Given the description of an element on the screen output the (x, y) to click on. 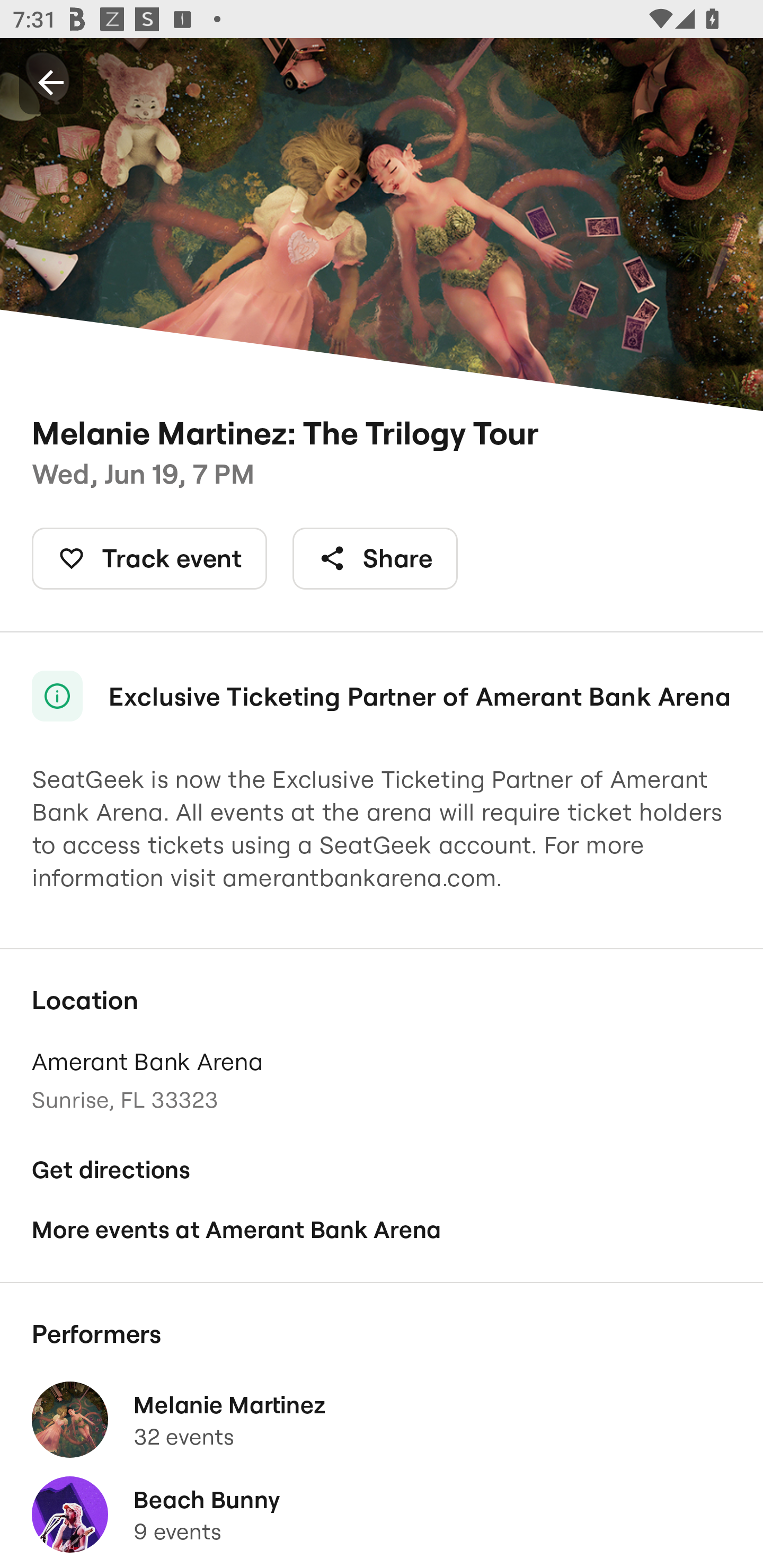
Back (50, 81)
Track event (149, 557)
Share (374, 557)
Get directions (381, 1169)
More events at Amerant Bank Arena (381, 1229)
Melanie Martinez 32 events (381, 1419)
Beach Bunny 9 events (381, 1514)
